Given the description of an element on the screen output the (x, y) to click on. 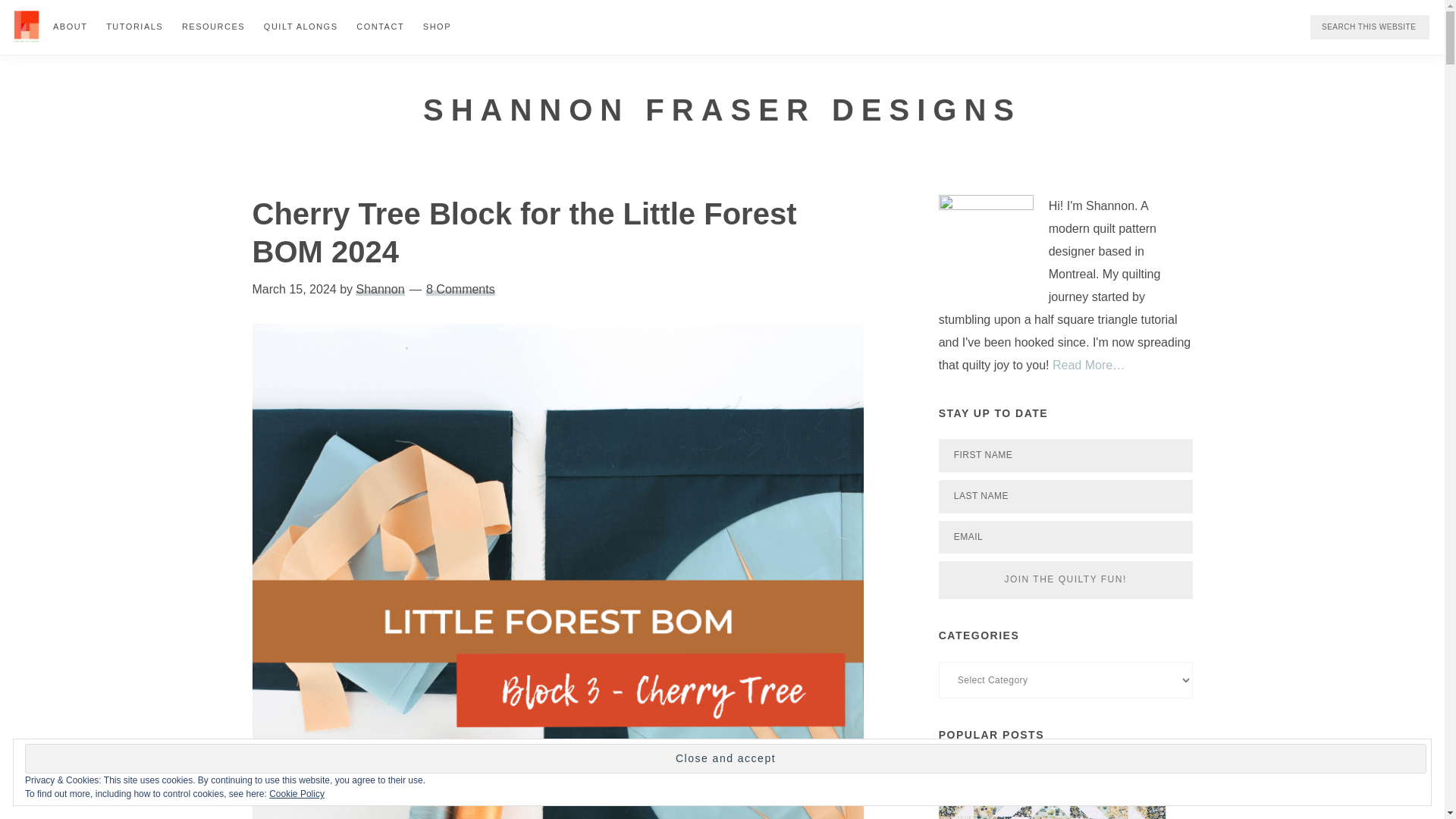
TUTORIALS (134, 26)
CONTACT (380, 26)
Join the quilty fun! (1065, 579)
QUILT ALONGS (301, 26)
Shannon (379, 287)
RESOURCES (212, 26)
8 Comments (460, 287)
SHANNON FRASER DESIGNS (722, 109)
SHOP (436, 26)
ABOUT (69, 26)
